Given the description of an element on the screen output the (x, y) to click on. 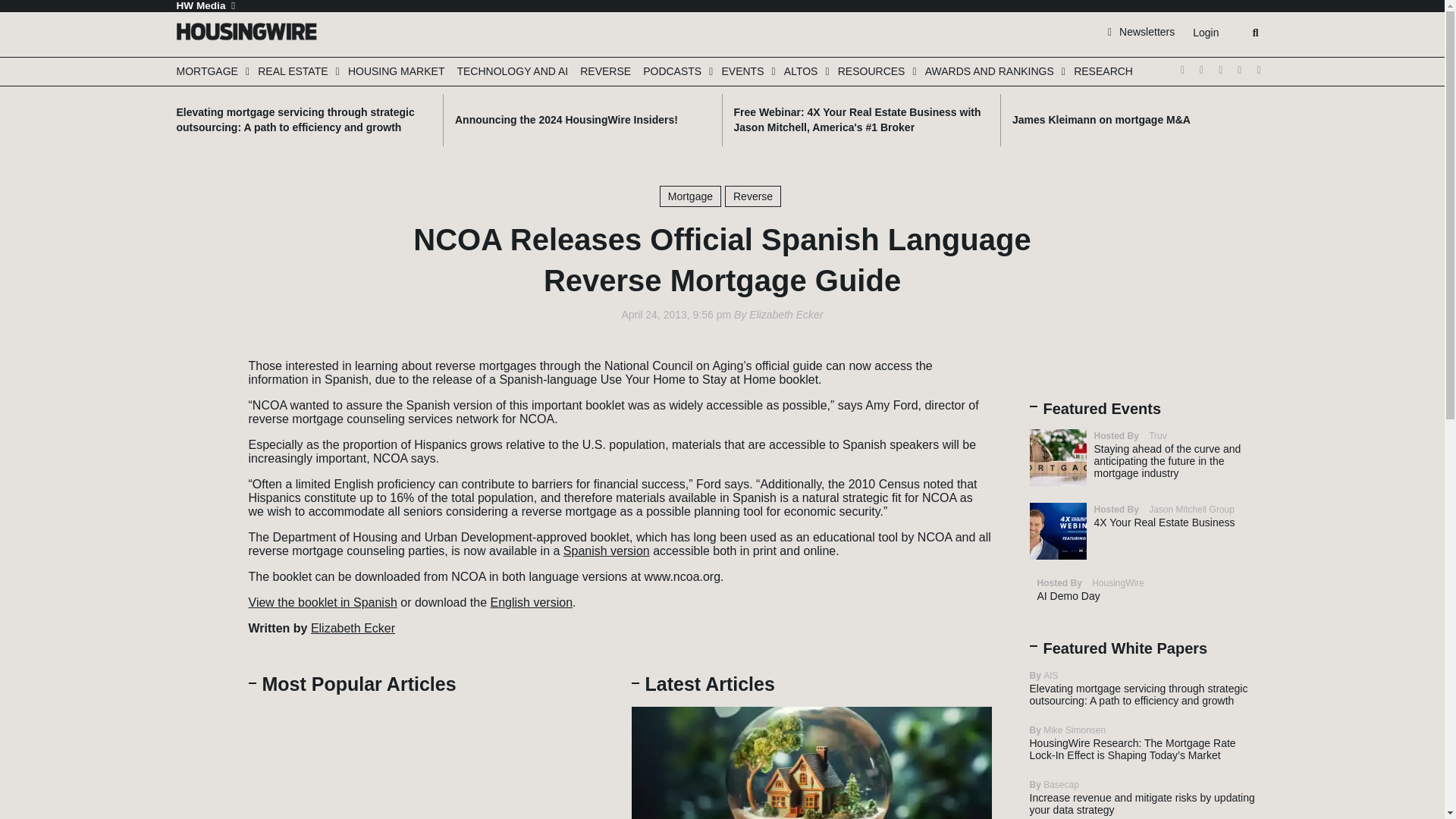
Click to email a link to a friend (203, 429)
Click to copy link (203, 452)
Click to share on Facebook (203, 383)
Posts by Elizabeth Ecker (785, 314)
Click to share on LinkedIn (203, 406)
Click to share on Twitter (203, 360)
Login (1205, 32)
Newsletters (1141, 31)
